Given the description of an element on the screen output the (x, y) to click on. 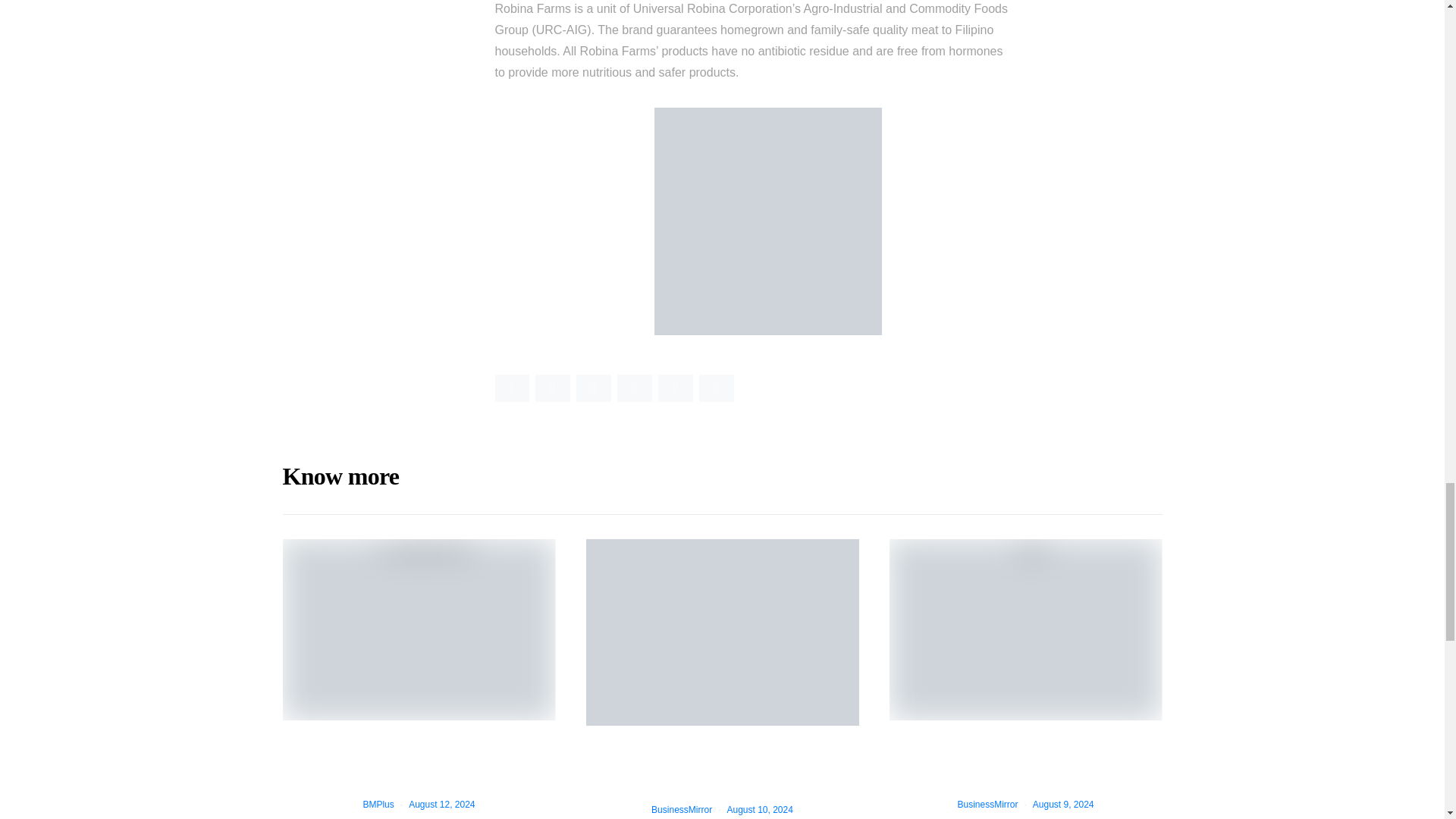
View all posts by BusinessMirror (986, 804)
View all posts by BMPlus (377, 804)
View all posts by BusinessMirror (680, 809)
